Given the description of an element on the screen output the (x, y) to click on. 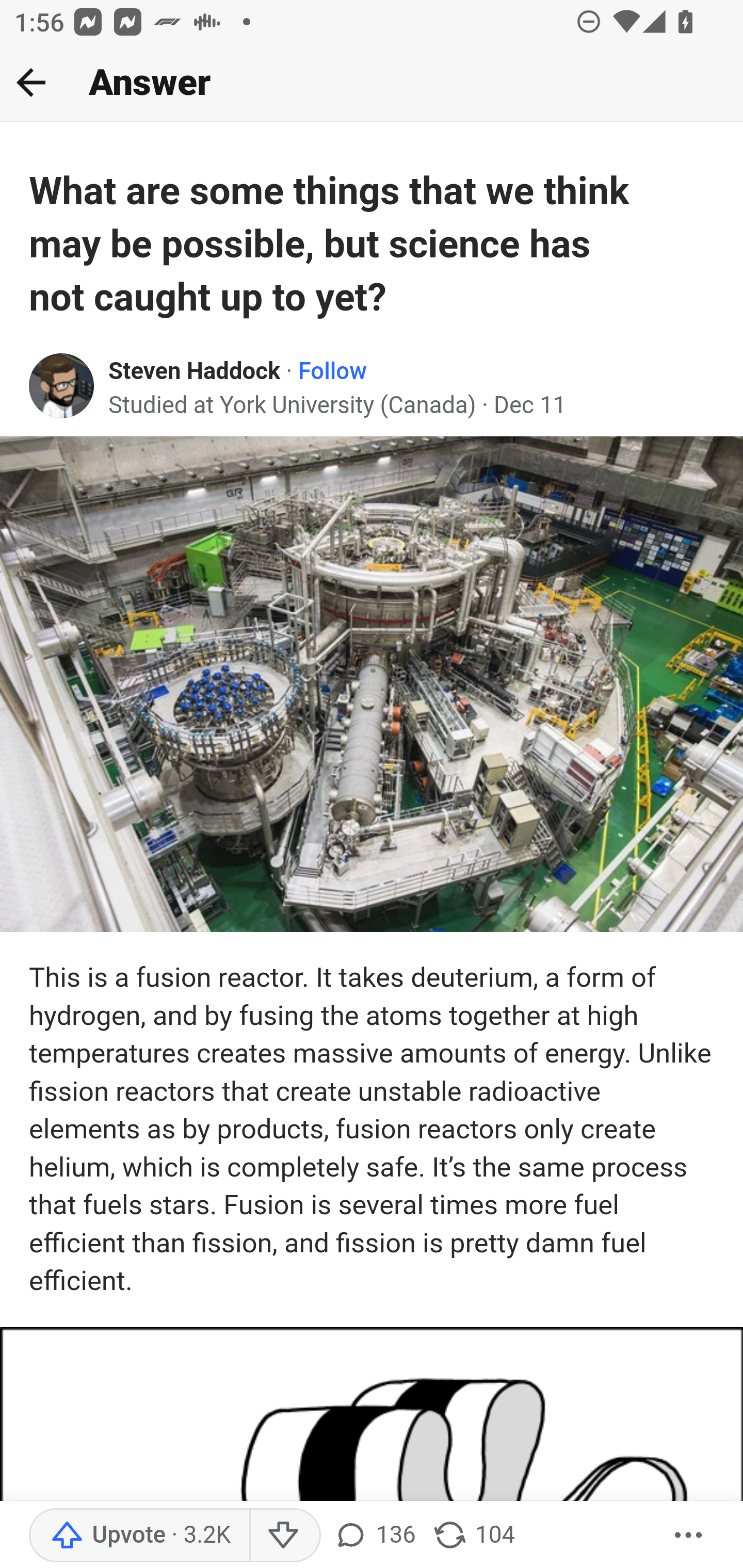
Me Home Search Add (371, 82)
Back (30, 82)
Profile photo for Steven Haddock (61, 385)
Steven Haddock (194, 371)
Follow (332, 371)
Dec 11 (529, 404)
main-qimg-029a9037e03d208acb161ae660cb906f (371, 683)
Upvote (138, 1535)
Downvote (283, 1535)
136 comments (373, 1535)
104 shares (473, 1535)
More (688, 1535)
